Given the description of an element on the screen output the (x, y) to click on. 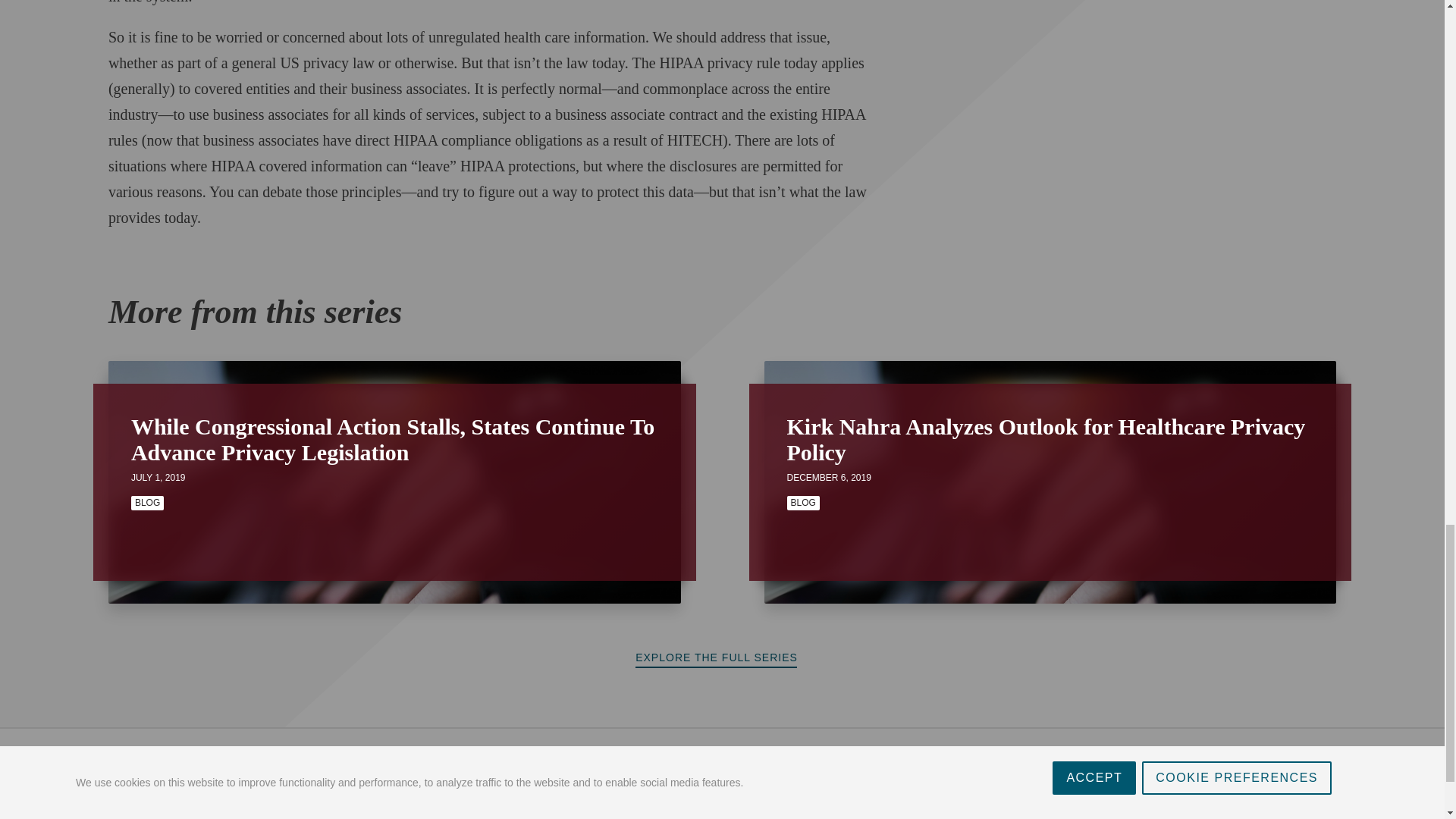
Privacy Policy (138, 805)
Contact Us (253, 768)
EXPLORE THE FULL SERIES (721, 657)
WilmerHale Launch (153, 768)
Alumni Center (338, 768)
